Given the description of an element on the screen output the (x, y) to click on. 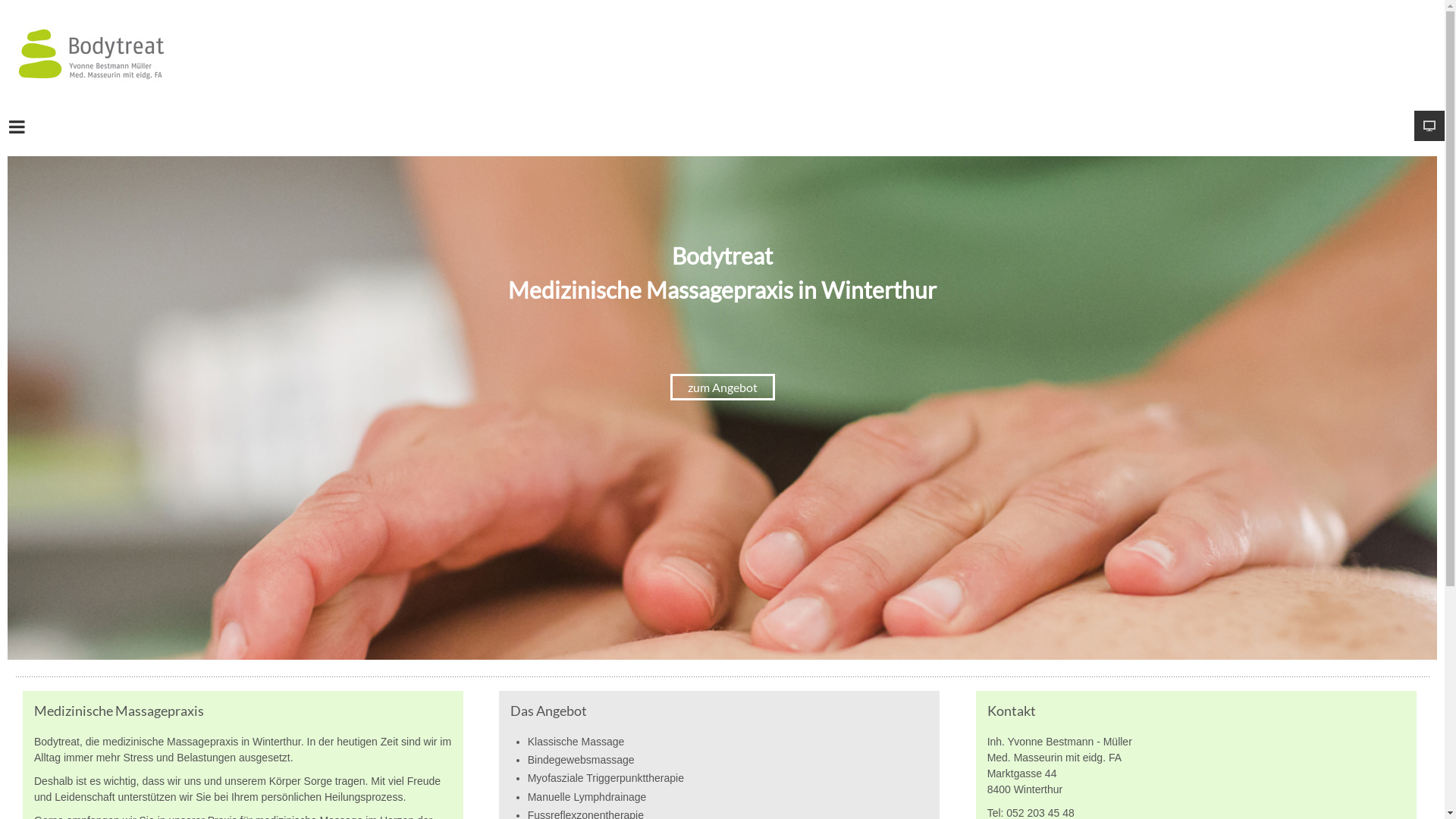
zum Angebot Element type: text (722, 386)
